Given the description of an element on the screen output the (x, y) to click on. 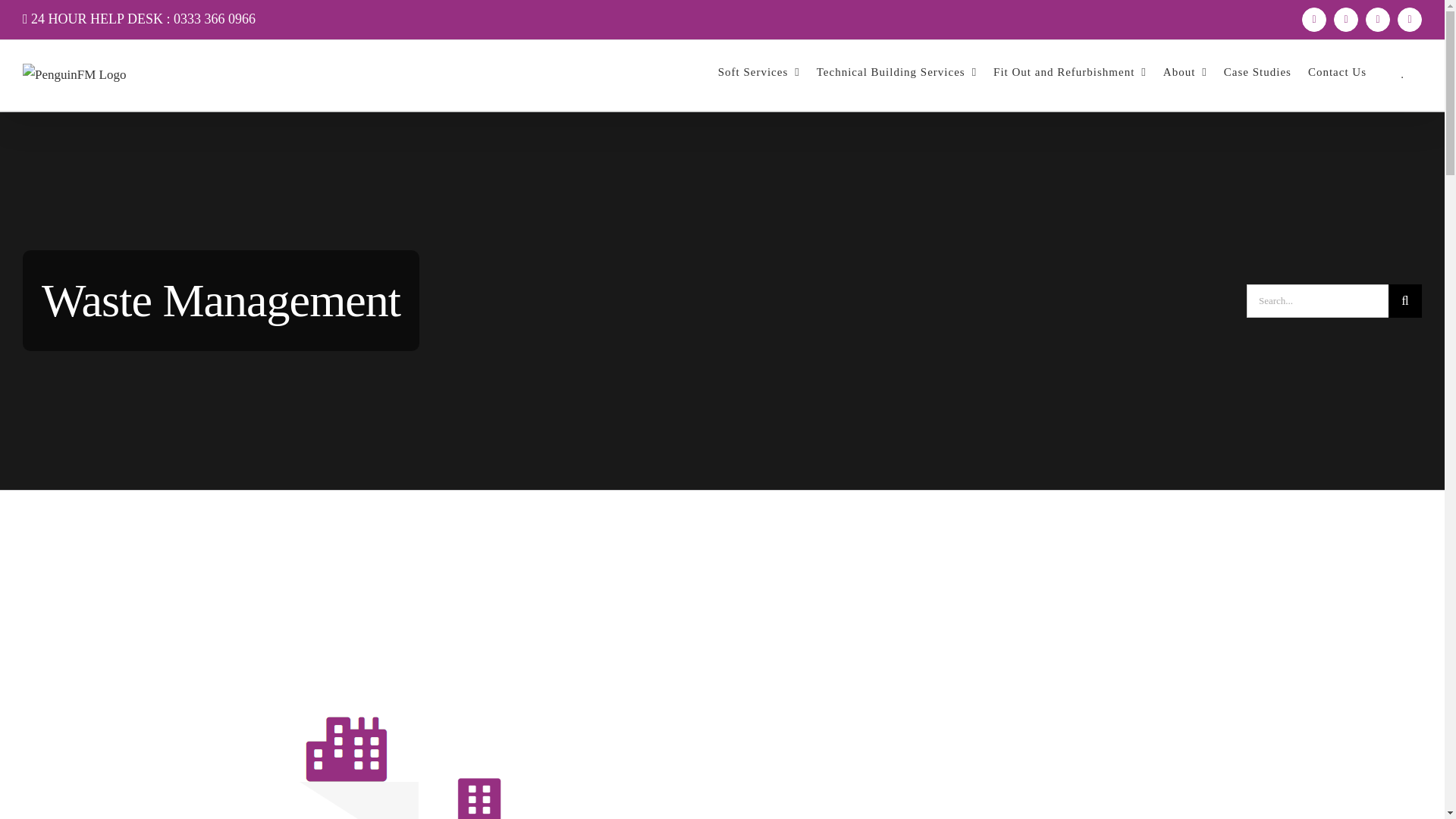
Case Studies (1257, 72)
Instagram (1377, 19)
Contact Us (1337, 72)
Soft Services (758, 72)
LinkedIn (1409, 19)
YouTube (1345, 19)
YouTube (1345, 19)
Facebook (1313, 19)
Facebook (1313, 19)
LinkedIn (1409, 19)
